Given the description of an element on the screen output the (x, y) to click on. 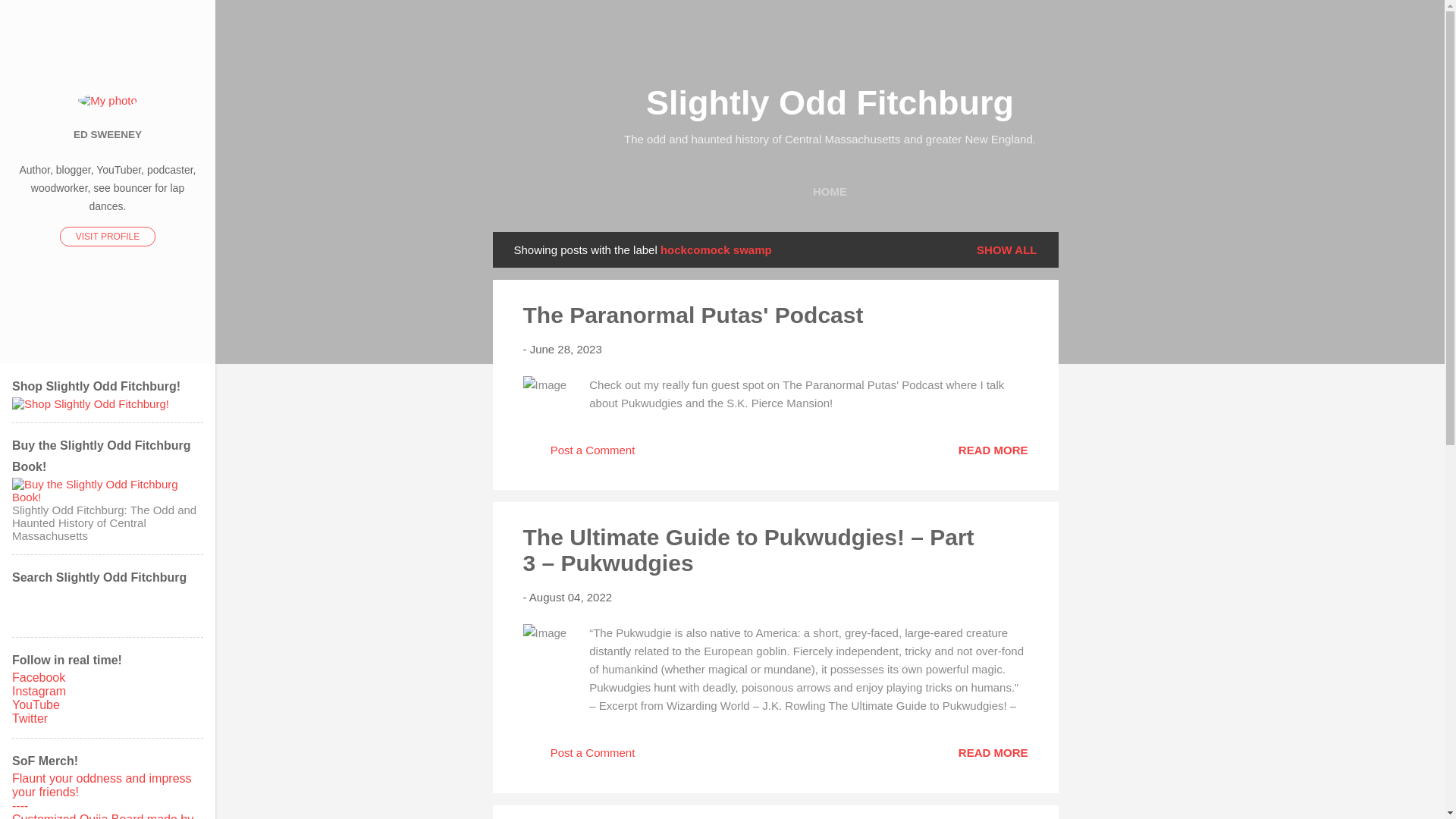
READ MORE (992, 752)
The Paranormal Putas' Podcast (992, 449)
August 04, 2022 (570, 596)
HOME (829, 192)
The Paranormal Putas' Podcast (692, 314)
June 28, 2023 (565, 349)
permanent link (565, 349)
Post a Comment (578, 454)
ED SWEENEY (107, 133)
Post a Comment (578, 757)
SHOW ALL (1006, 249)
VISIT PROFILE (107, 236)
permanent link (570, 596)
Slightly Odd Fitchburg (829, 102)
Search (29, 18)
